Given the description of an element on the screen output the (x, y) to click on. 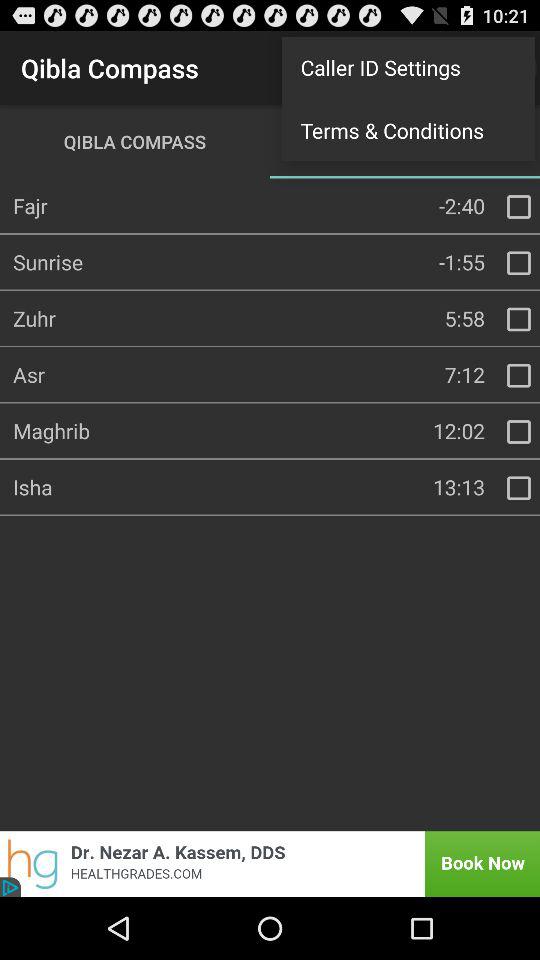
toggle select (519, 432)
